Given the description of an element on the screen output the (x, y) to click on. 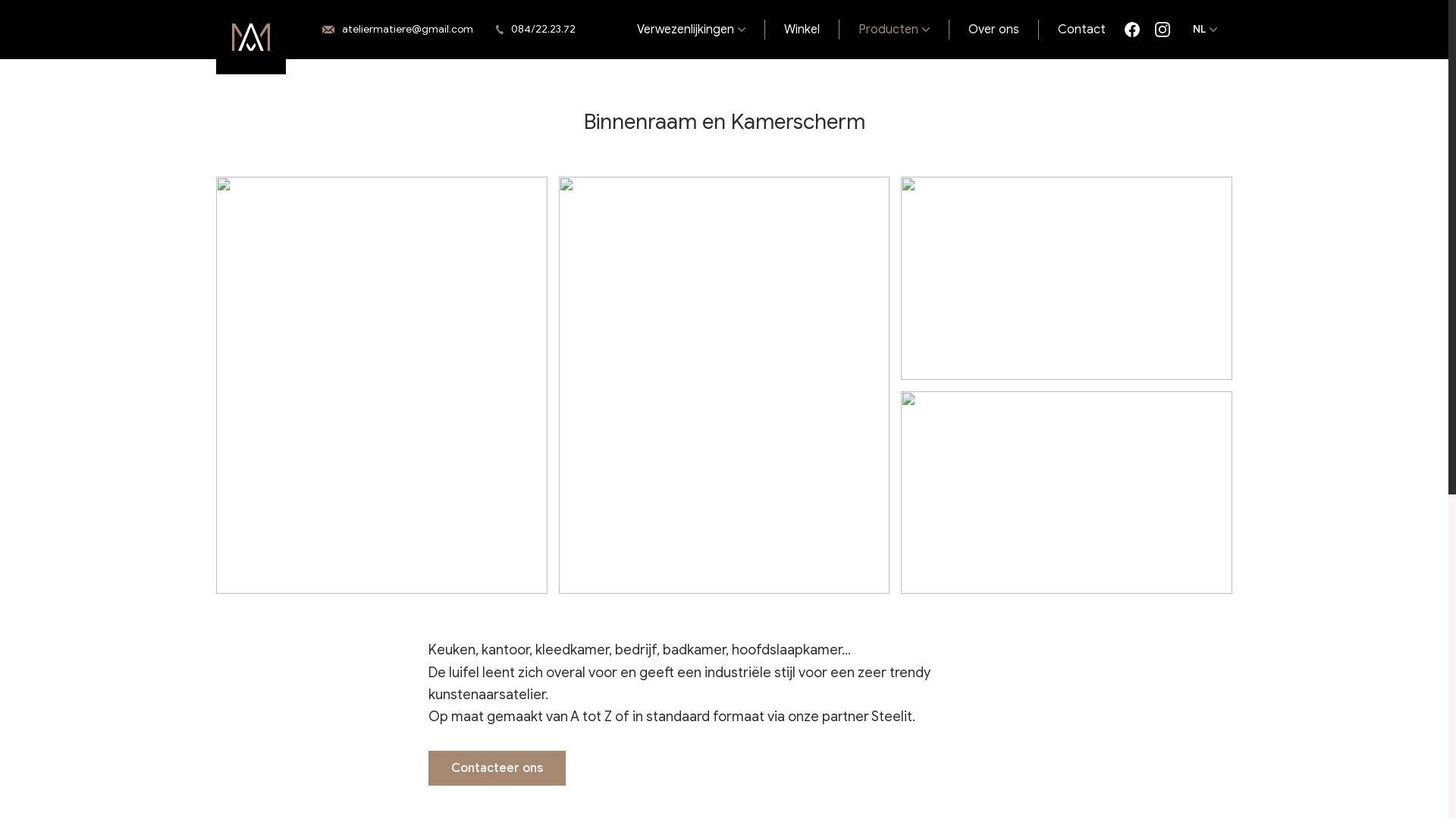
NL Element type: text (1204, 29)
Producten Element type: text (894, 29)
Verwezenlijkingen Element type: text (691, 29)
Bel ons op
084/22.23.72 Element type: text (539, 29)
onze partner Steelit. Element type: text (851, 716)
Winkel Element type: text (802, 29)
Facebook Element type: text (1131, 29)
Over ons Element type: text (993, 29)
Contacteer ons
ateliermatiere@gmail.com Element type: text (397, 29)
Contacteer ons Element type: text (496, 767)
Contact Element type: text (1081, 29)
Instagram Element type: text (1162, 29)
